Given the description of an element on the screen output the (x, y) to click on. 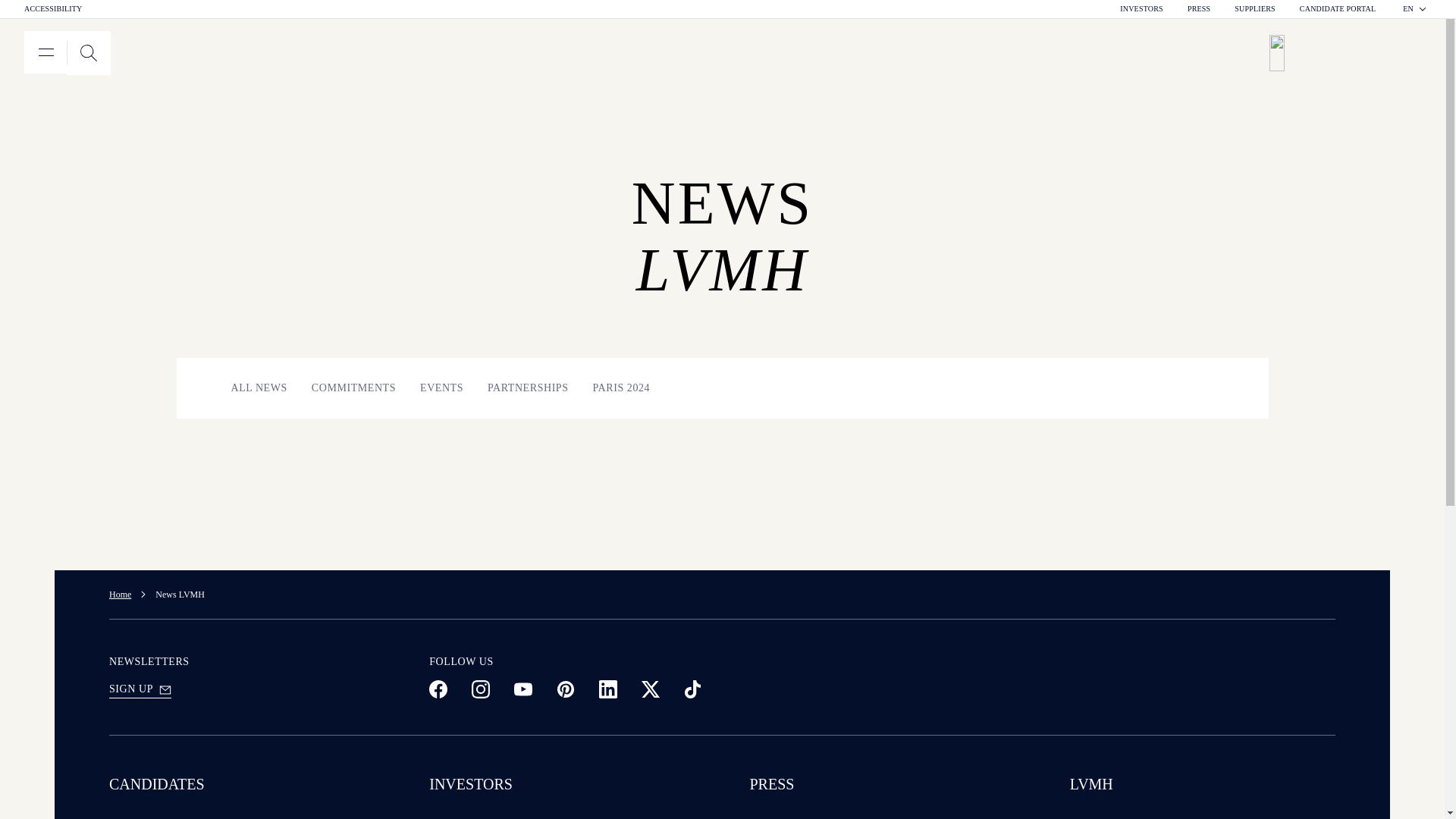
SUPPLIERS (1254, 9)
PRESS (1198, 9)
SEARCH (88, 53)
INVESTORS (1415, 9)
ACCESSIBILITY (1141, 9)
CANDIDATE PORTAL (53, 9)
SEARCH (1337, 9)
LVMH Homepage (67, 53)
SEARCH (1350, 53)
